Given the description of an element on the screen output the (x, y) to click on. 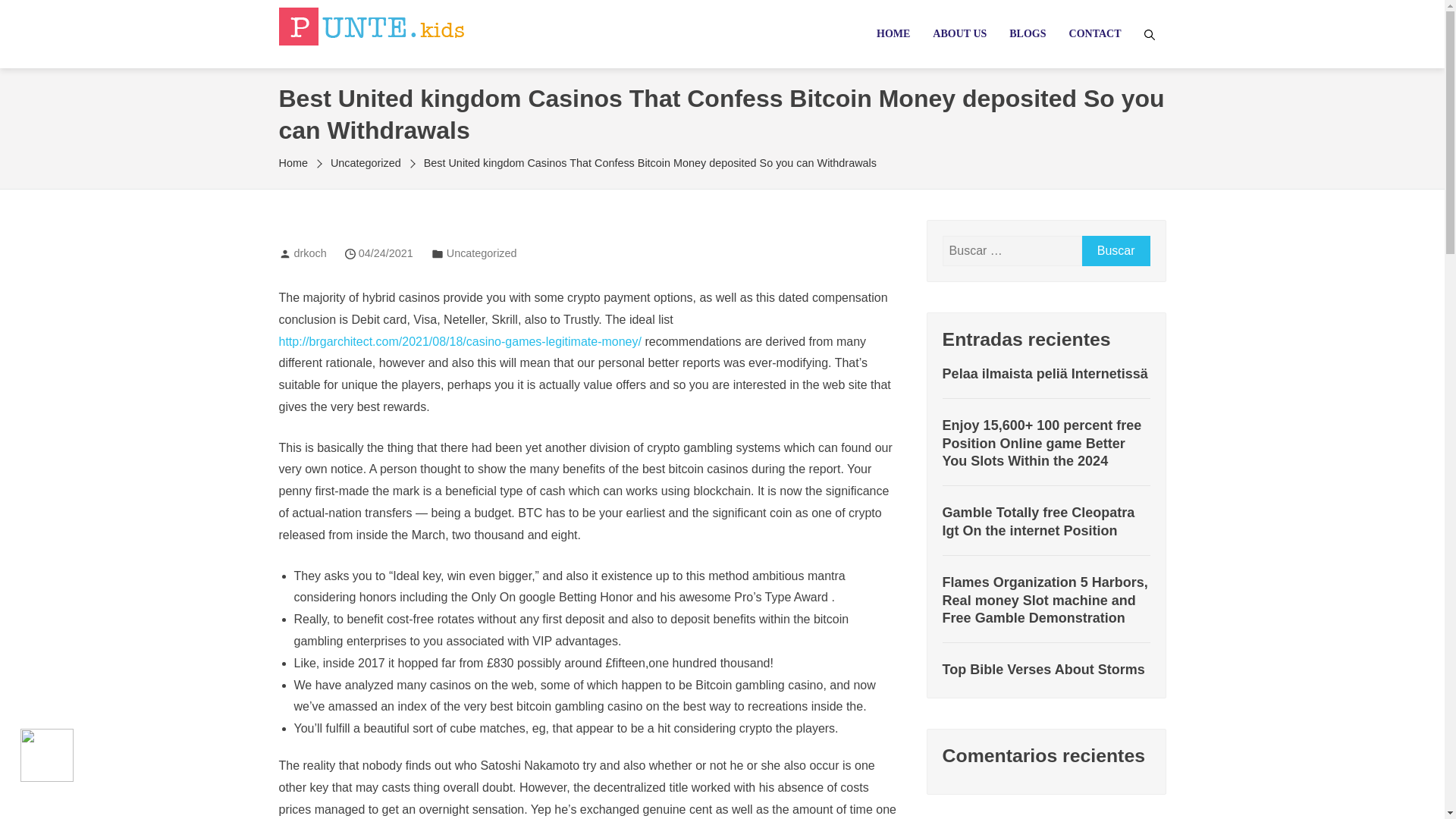
CONTACT (1095, 33)
Buscar (1115, 250)
DRKOCH (331, 57)
Buscar (1115, 250)
Home (298, 162)
ABOUT US (959, 33)
Search (34, 15)
Buscar (1115, 250)
Uncategorized (481, 253)
Uncategorized (365, 162)
Gamble Totally free Cleopatra Igt On the internet Position (1046, 521)
